Given the description of an element on the screen output the (x, y) to click on. 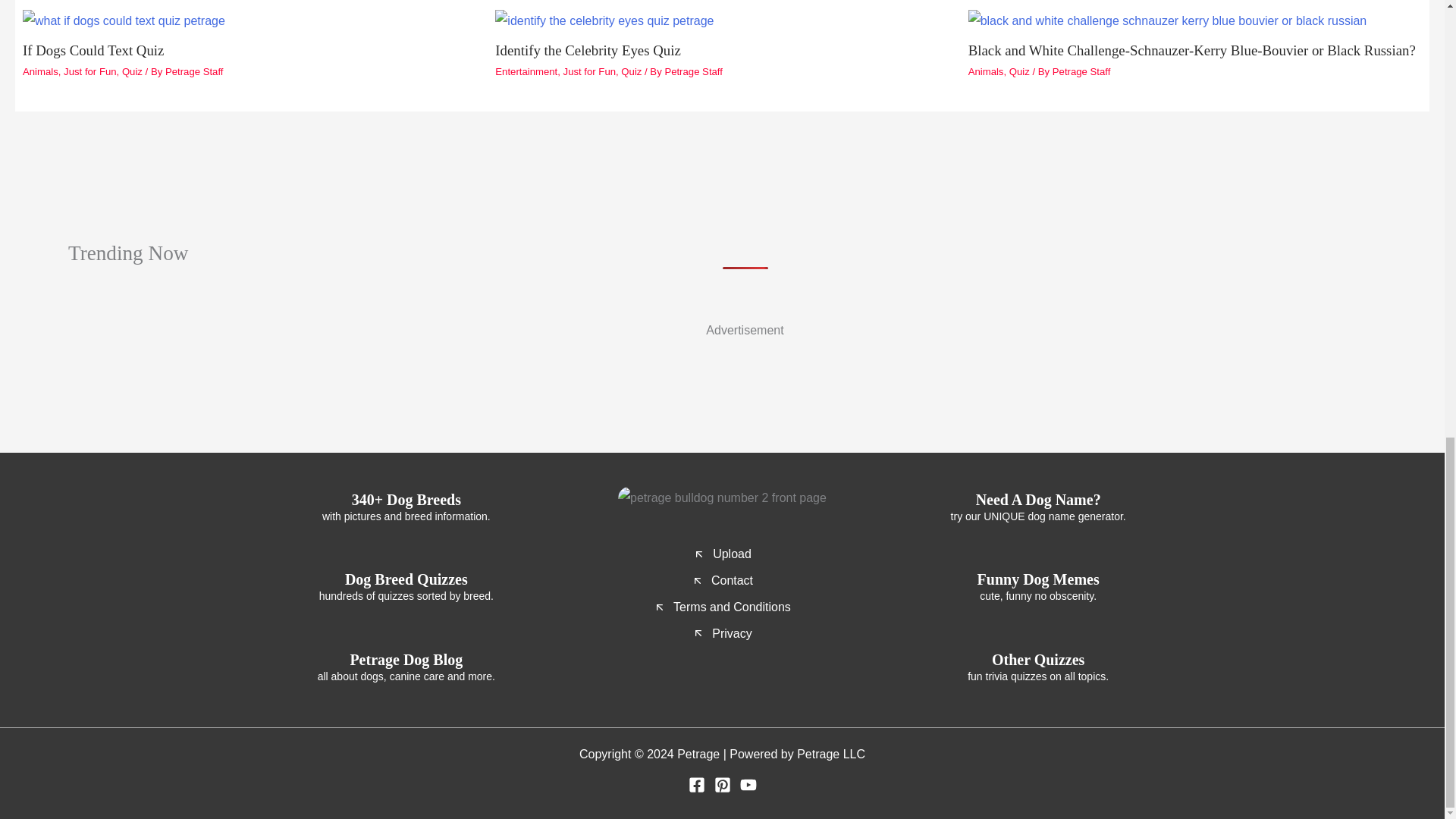
View all posts by Petrage Staff (1081, 71)
View all posts by Petrage Staff (194, 71)
View all posts by Petrage Staff (692, 71)
